Given the description of an element on the screen output the (x, y) to click on. 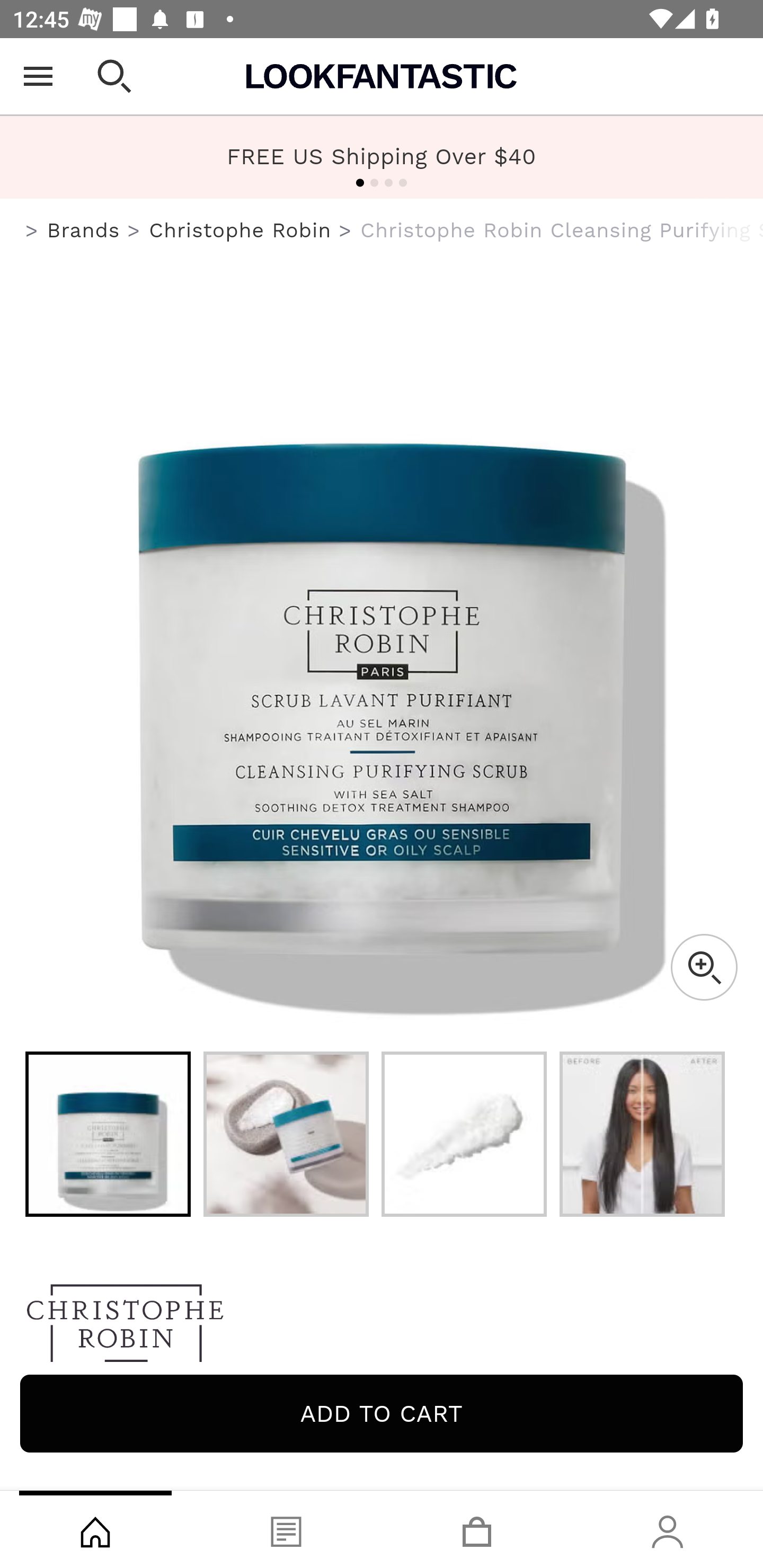
Open Menu (38, 75)
Open search (114, 75)
Lookfantastic USA (381, 75)
FREE US Shipping Over $40 (381, 157)
FREE US Shipping Over $40 (381, 155)
us.lookfantastic (32, 230)
Brands (82, 230)
Christophe Robin (239, 230)
Zoom (703, 966)
Christophe Robin (381, 1327)
Add to cart (381, 1413)
Shop, tab, 1 of 4 (95, 1529)
Blog, tab, 2 of 4 (285, 1529)
Basket, tab, 3 of 4 (476, 1529)
Account, tab, 4 of 4 (667, 1529)
